Given the description of an element on the screen output the (x, y) to click on. 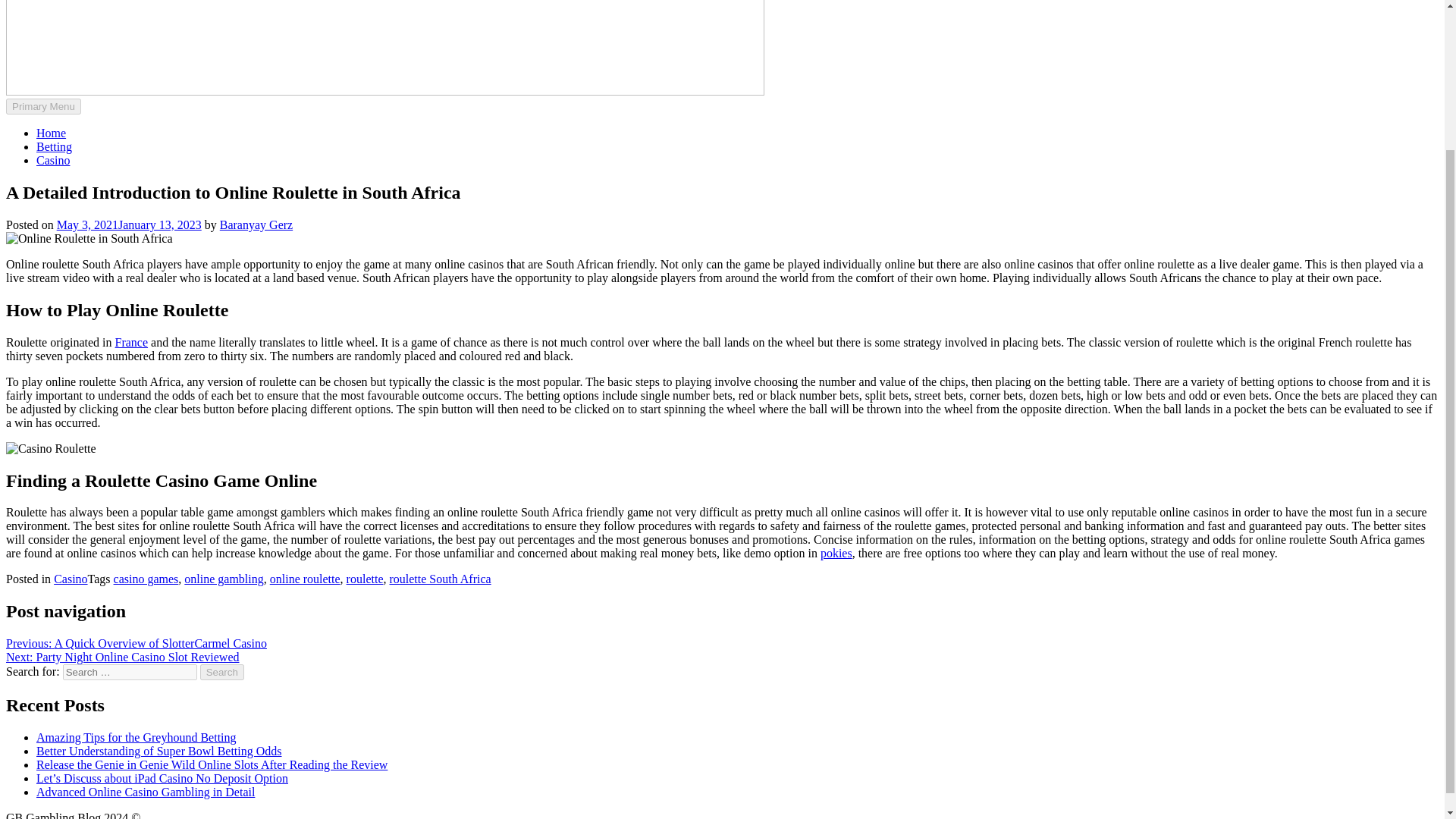
online roulette (304, 578)
France (131, 341)
Advanced Online Casino Gambling in Detail (145, 791)
May 3, 2021January 13, 2023 (129, 224)
roulette (365, 578)
Betting (53, 146)
Casino (70, 578)
pokies (836, 553)
online gambling (223, 578)
roulette South Africa (439, 578)
Search (222, 672)
Home (50, 132)
Better Understanding of Super Bowl Betting Odds (159, 750)
Next: Party Night Online Casino Slot Reviewed (122, 656)
